Given the description of an element on the screen output the (x, y) to click on. 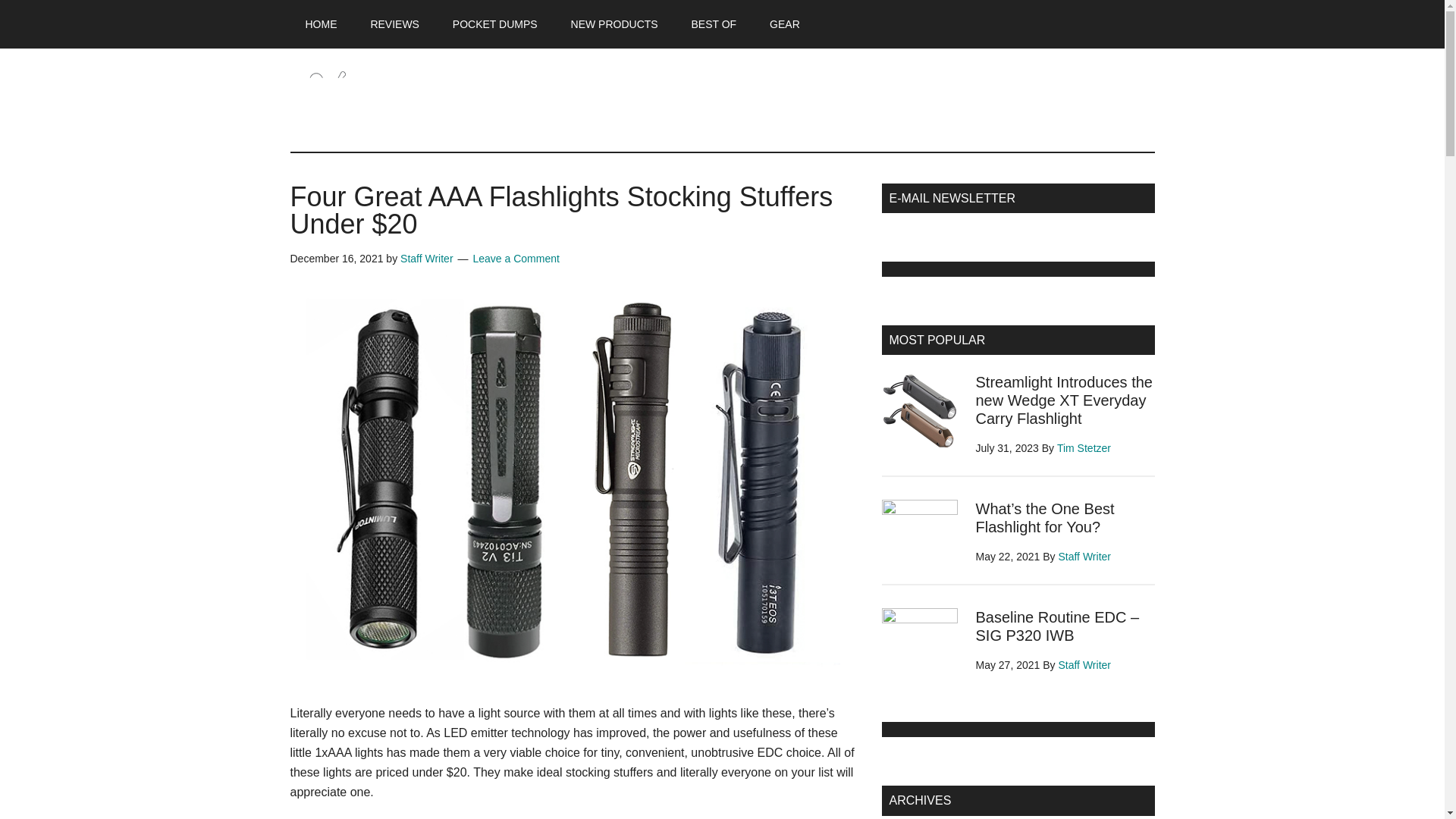
NEW PRODUCTS (614, 24)
POCKET DUMPS (495, 24)
Leave a Comment (515, 258)
Staff Writer (426, 258)
GEAR (784, 24)
HOME (320, 24)
REVIEWS (394, 24)
BEST OF (714, 24)
